Given the description of an element on the screen output the (x, y) to click on. 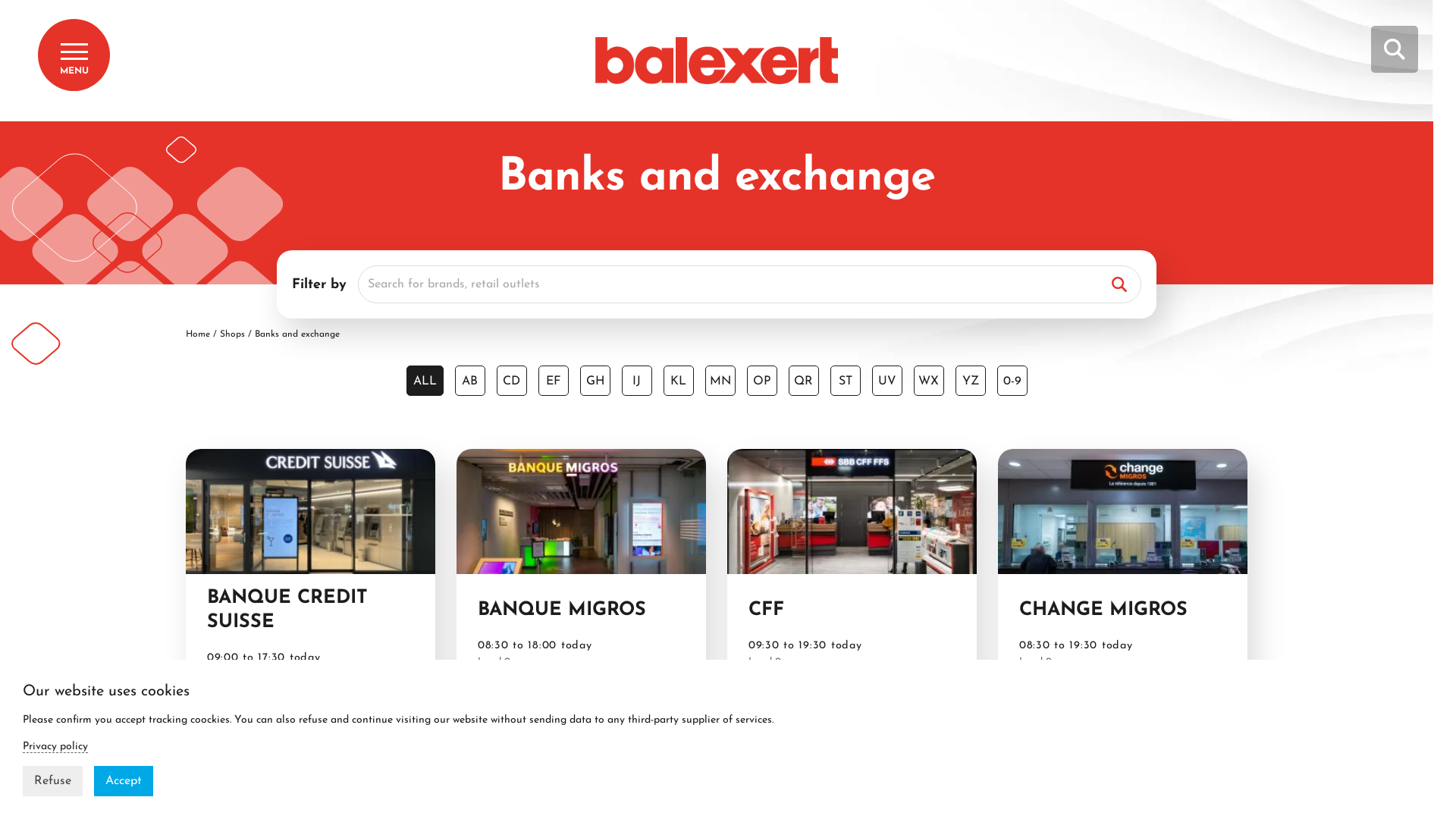
IJ Element type: text (636, 380)
ALL Element type: text (424, 380)
OP Element type: text (761, 380)
YZ Element type: text (970, 380)
GH Element type: text (594, 380)
Privacy policy Element type: text (54, 746)
CD Element type: text (510, 380)
BANQUE CREDIT SUISSE
09:00 to 17:30 today
Level 1 Element type: text (310, 575)
Refuse Element type: text (52, 780)
CHANGE MIGROS
08:30 to 19:30 today
Level 0 Element type: text (1122, 575)
KL Element type: text (677, 380)
ST Element type: text (844, 380)
BANQUE MIGROS
08:30 to 18:00 today
Level 0 Element type: text (581, 575)
Accept Element type: text (123, 780)
WX Element type: text (928, 380)
Home Element type: text (197, 333)
UV Element type: text (887, 380)
0-9 Element type: text (1011, 380)
CFF
09:30 to 19:30 today
Level 0 Element type: text (851, 575)
QR Element type: text (803, 380)
EF Element type: text (553, 380)
MENU Element type: text (73, 54)
AB Element type: text (470, 380)
MN Element type: text (720, 380)
